Given the description of an element on the screen output the (x, y) to click on. 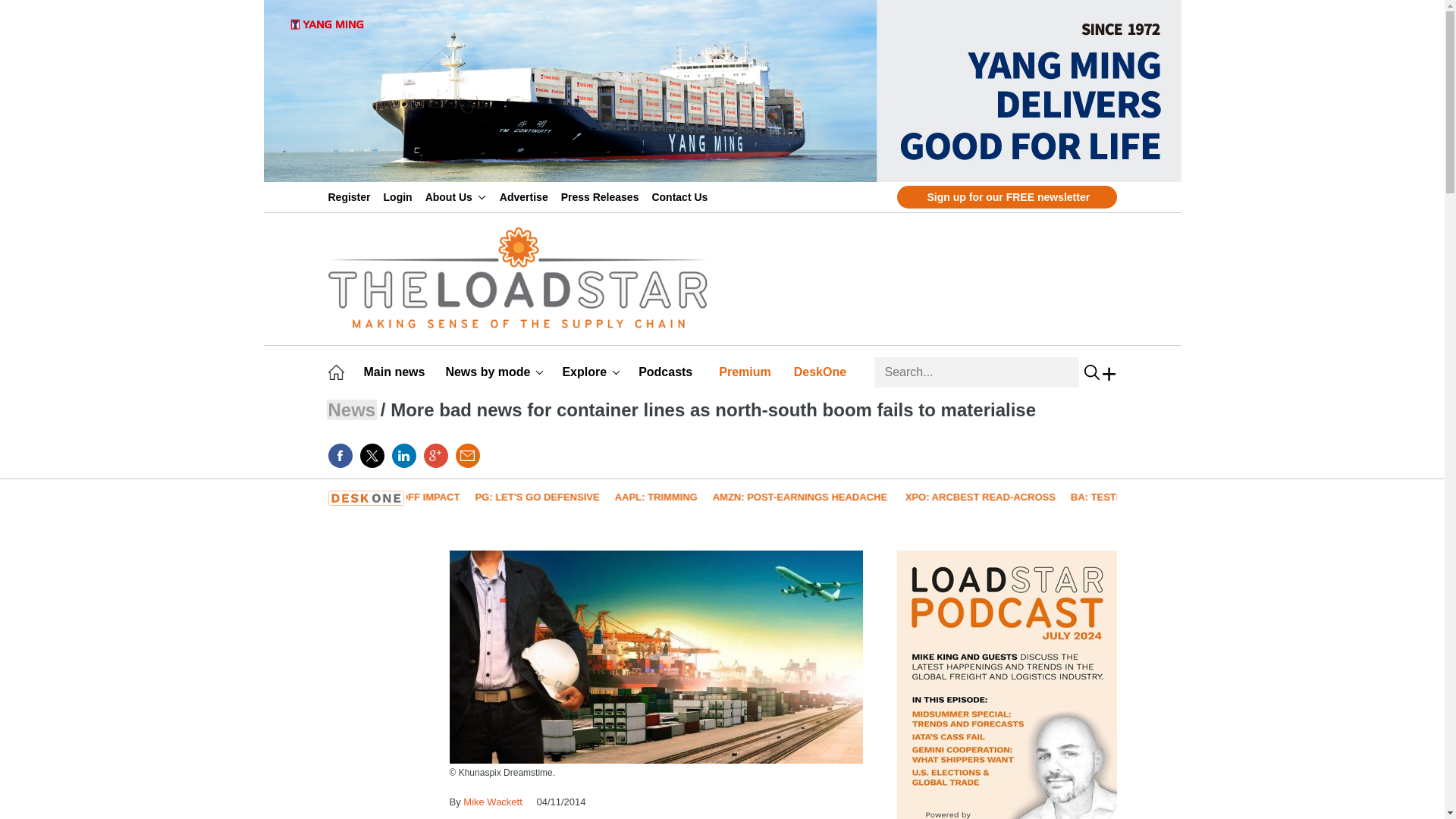
Advertise (526, 196)
Podcasts (668, 371)
Contact Us (681, 196)
About Us (455, 196)
Press Releases (602, 196)
Register (351, 196)
Login (400, 196)
Register (351, 196)
News by mode (494, 371)
Main news (397, 371)
Contact Us (681, 196)
Login (400, 196)
Explore (591, 371)
About Us (455, 196)
Loadstar Premium (747, 371)
